Given the description of an element on the screen output the (x, y) to click on. 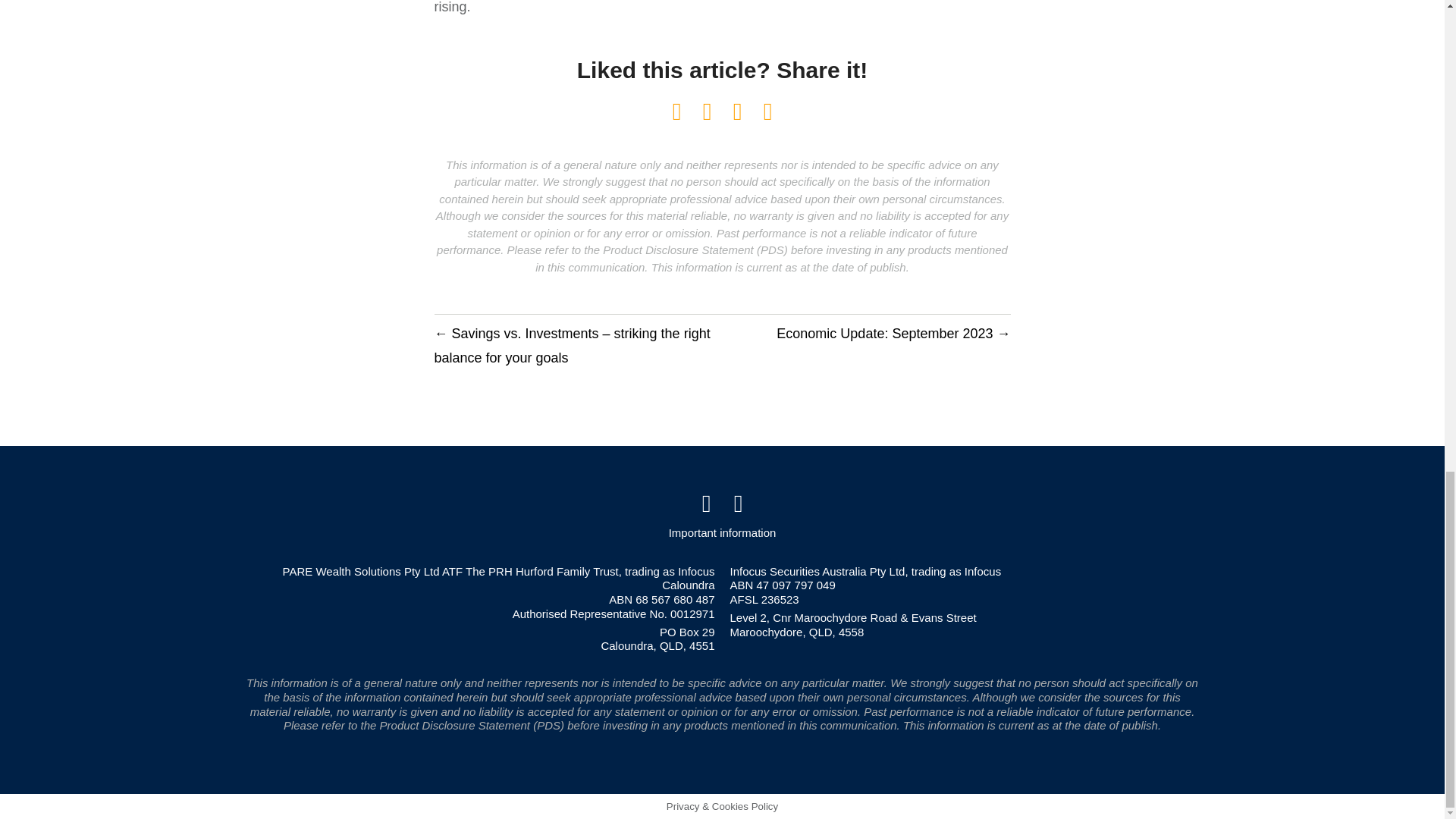
Important information (722, 528)
